Given the description of an element on the screen output the (x, y) to click on. 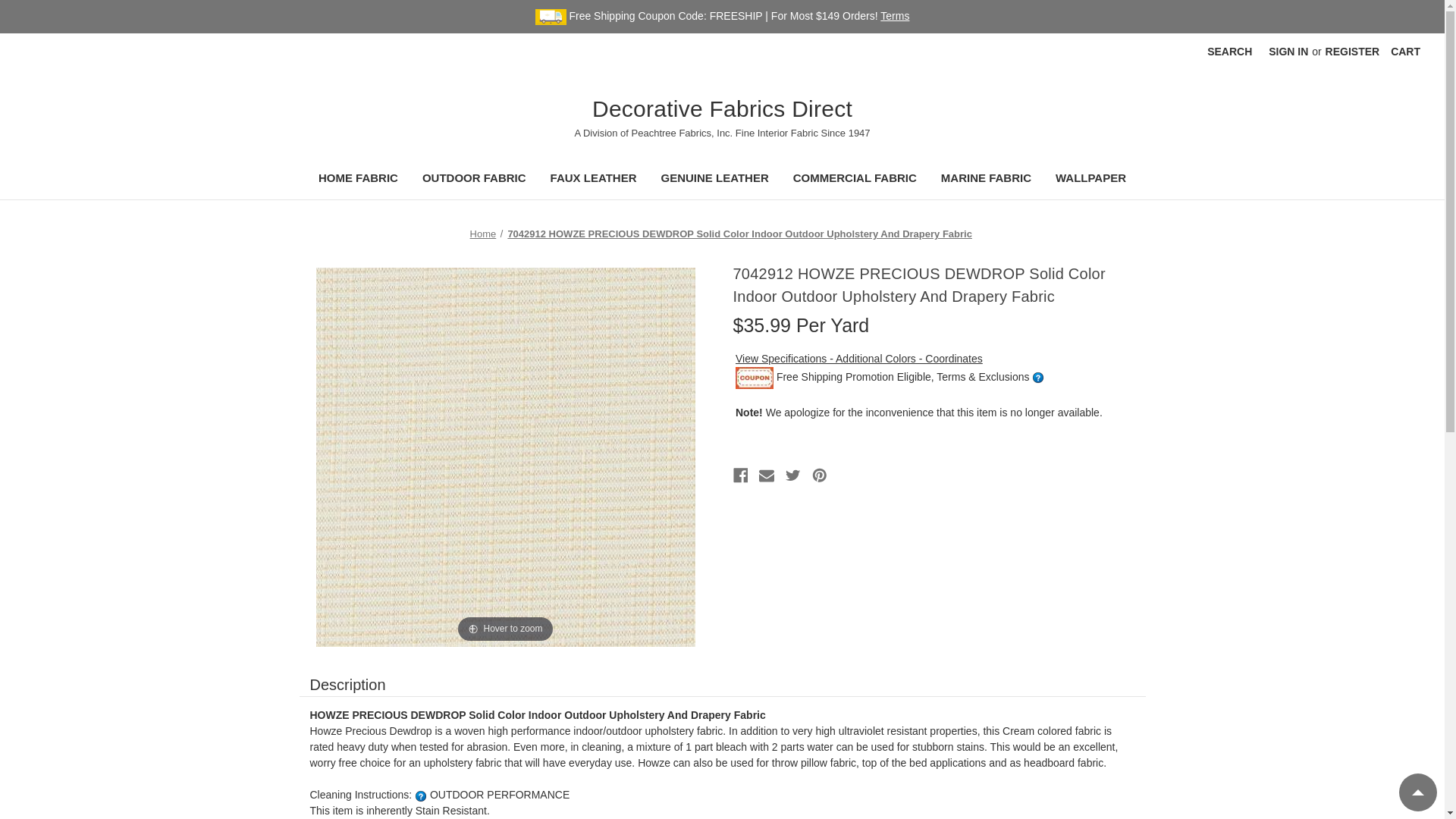
CART (1404, 51)
SEARCH (1229, 51)
REGISTER (1353, 51)
SIGN IN (1288, 51)
Decorative Fabrics Direct (721, 153)
Terms (894, 15)
HOME FABRIC (357, 180)
Free Shipping Terms (894, 15)
